Given the description of an element on the screen output the (x, y) to click on. 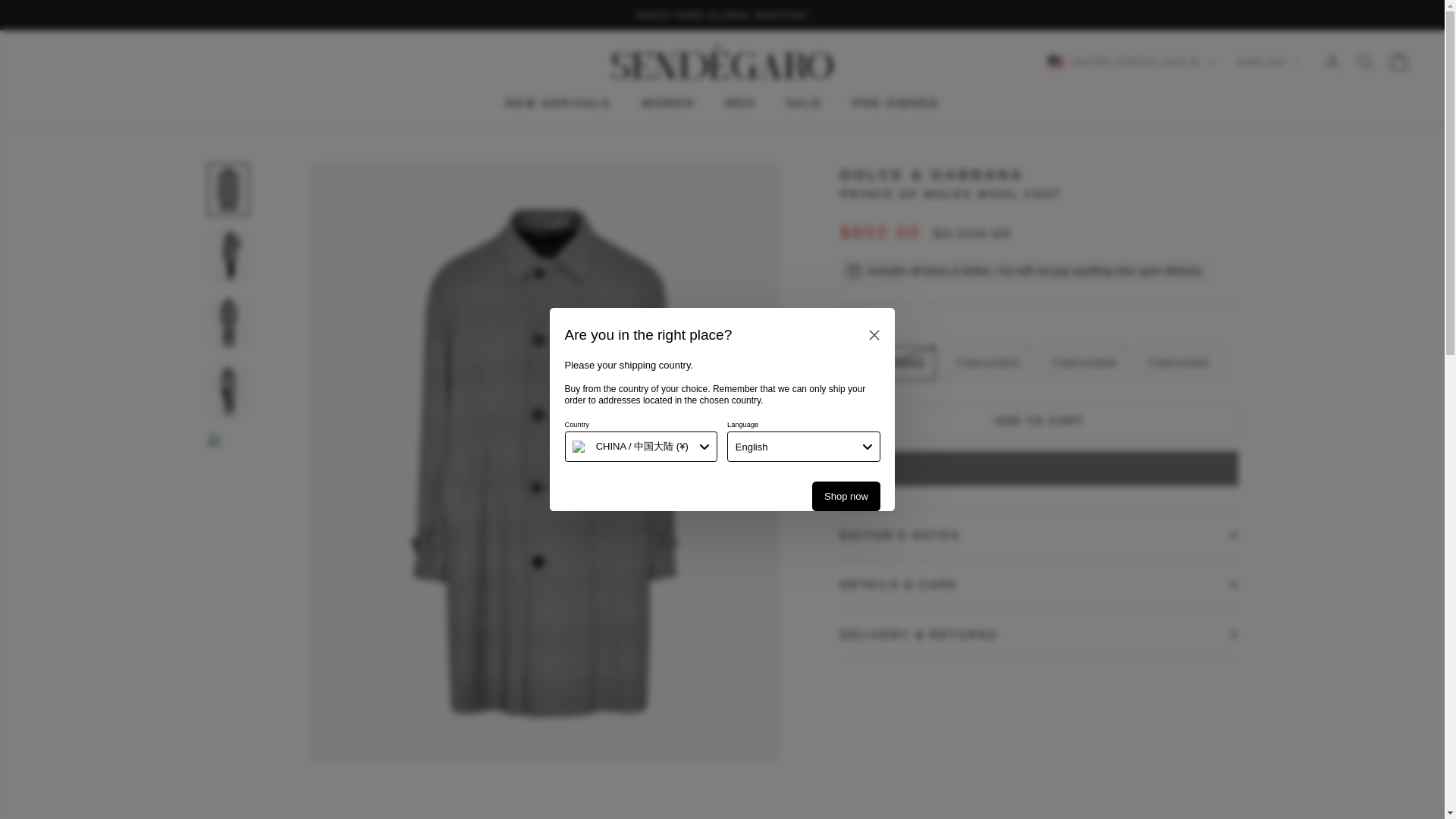
Sendegaro (722, 61)
Shop now (845, 496)
English (803, 446)
